Given the description of an element on the screen output the (x, y) to click on. 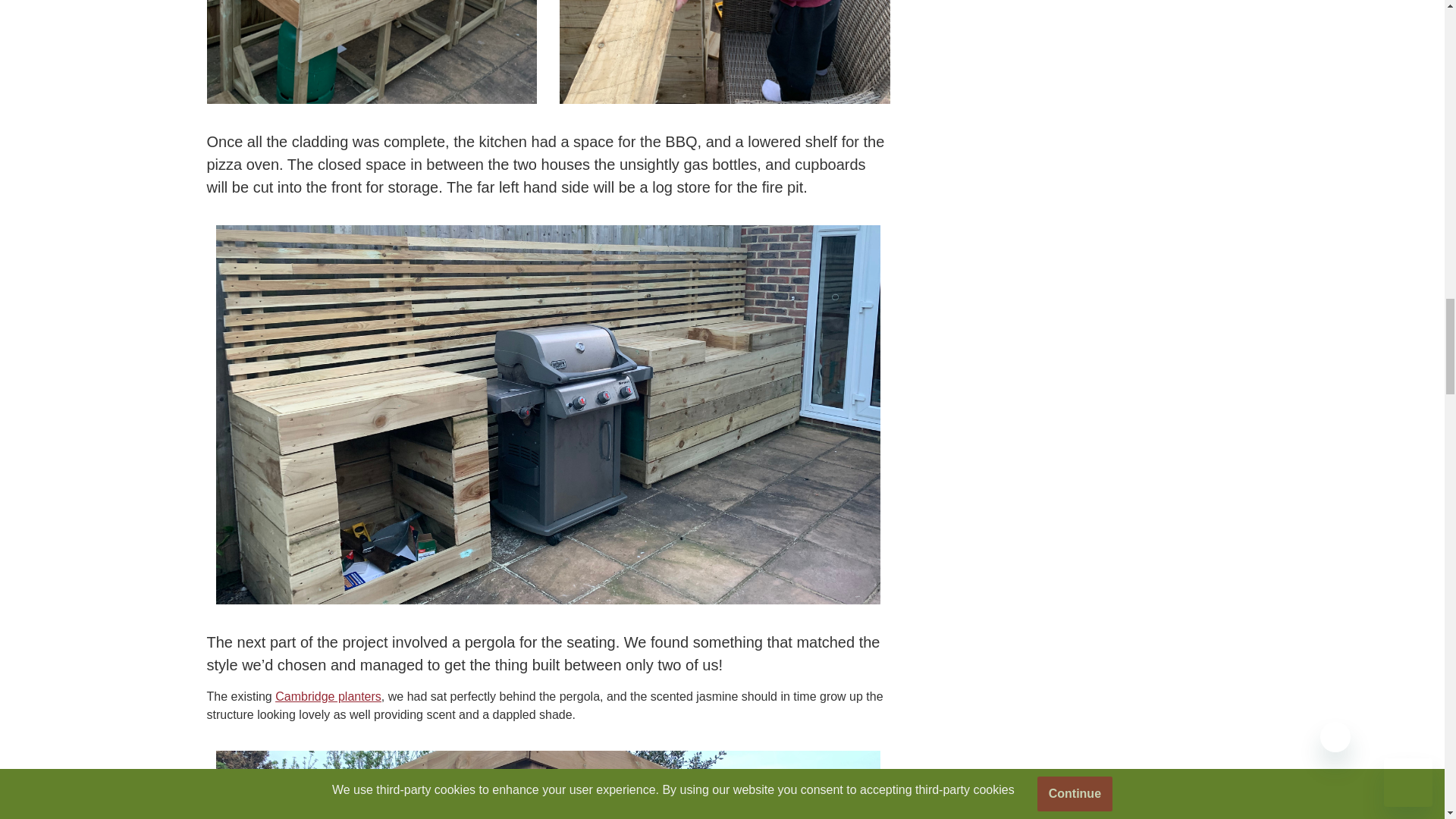
Cladding the framework (371, 52)
Apolline helps (724, 52)
The pergola is up! (547, 785)
